Given the description of an element on the screen output the (x, y) to click on. 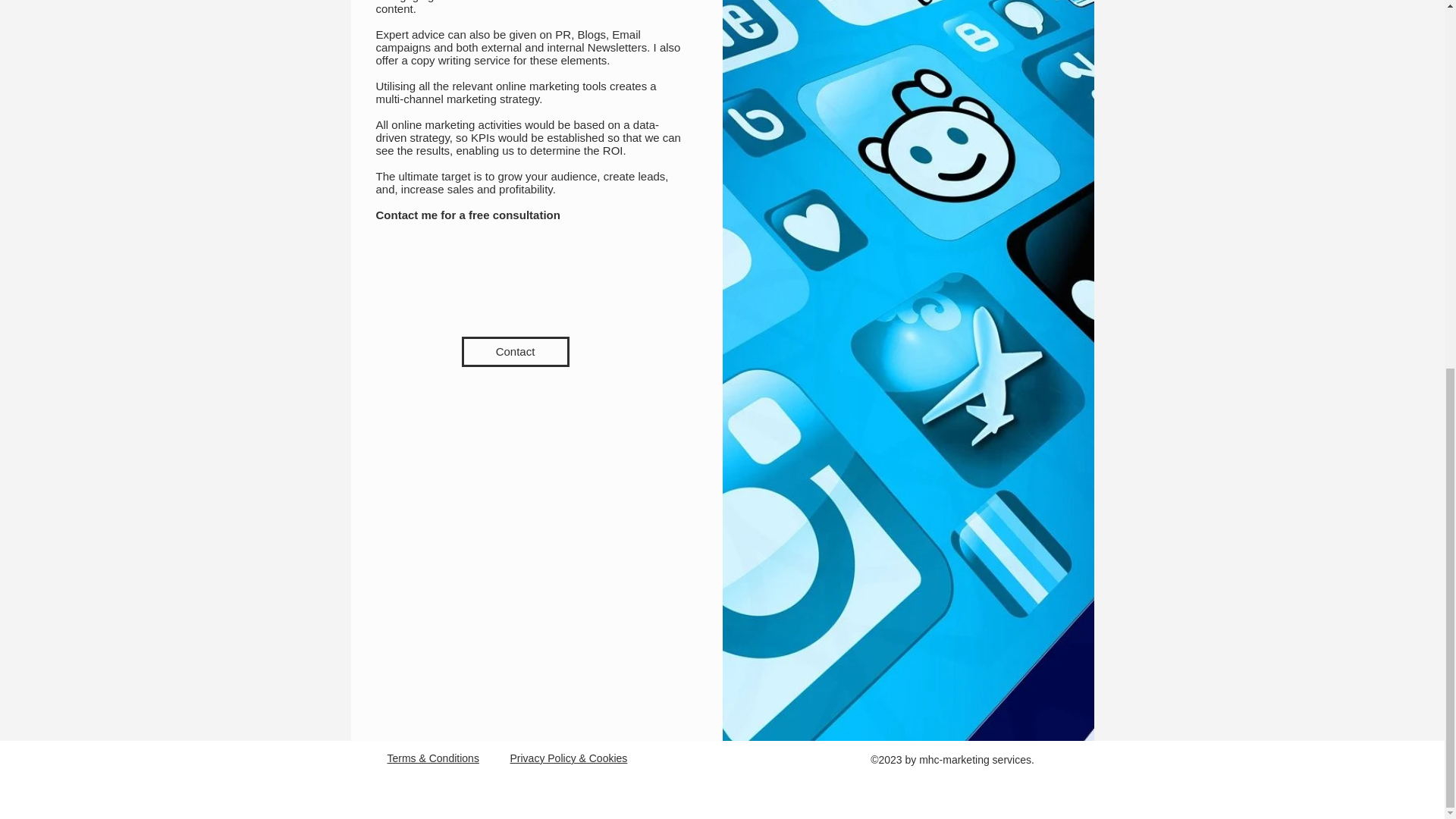
Contact (515, 351)
